Given the description of an element on the screen output the (x, y) to click on. 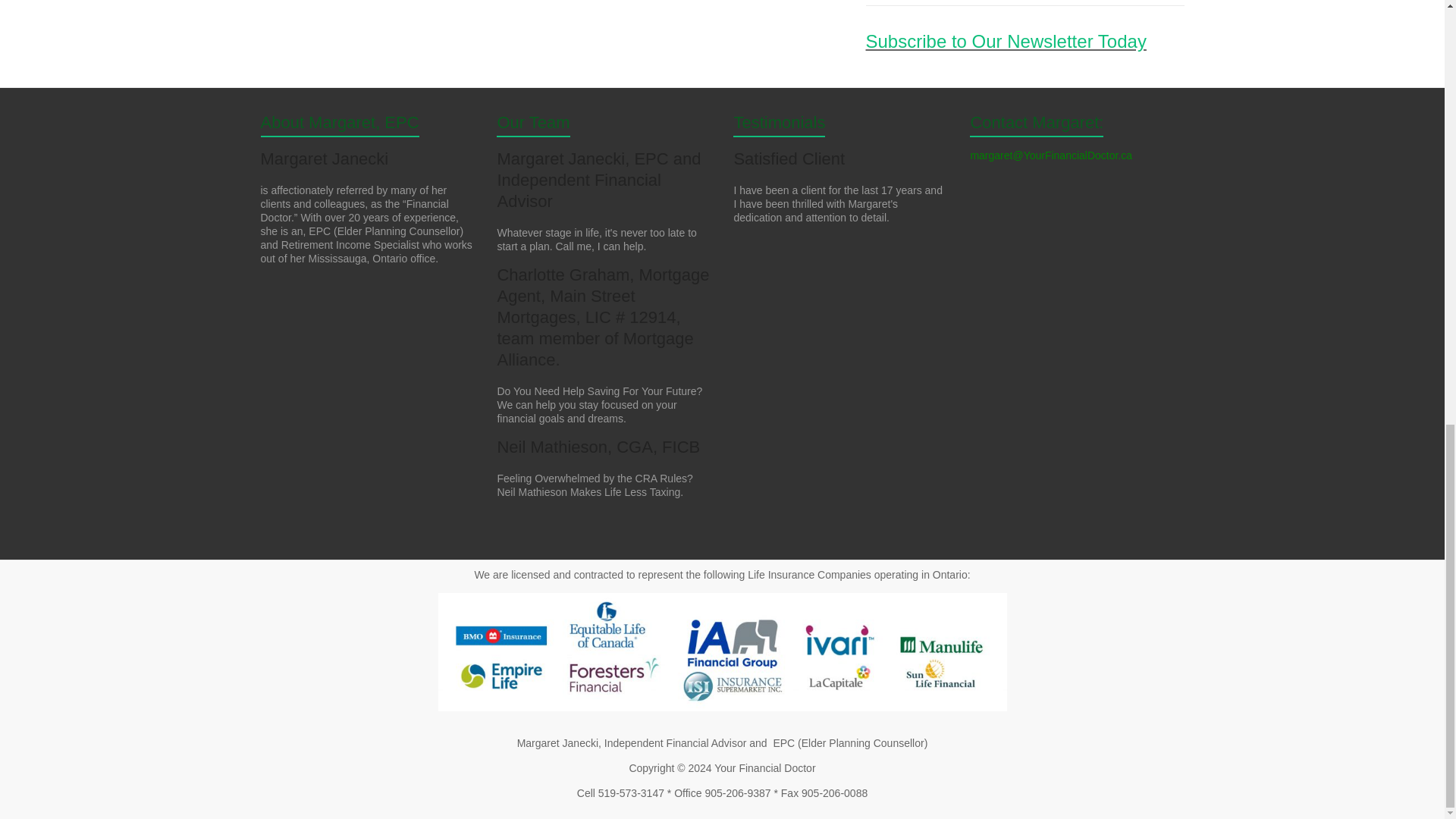
Your Financial Doctor (764, 767)
Subscribe to Our Newsletter Today (1006, 41)
Your Financial Doctor (764, 767)
